Given the description of an element on the screen output the (x, y) to click on. 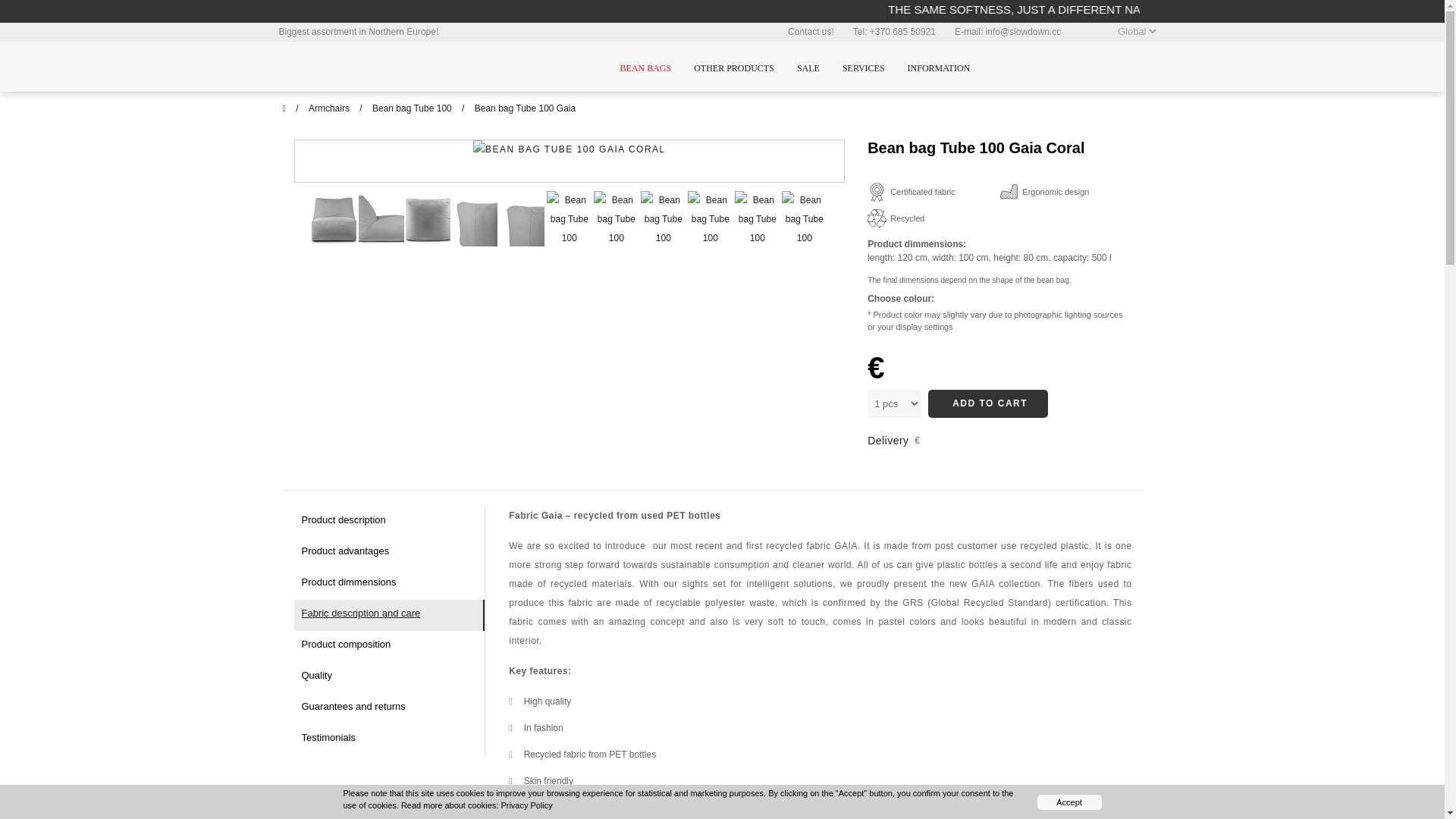
Biggest assortment in Northern Europe! (359, 31)
SALE (808, 68)
SERVICES (863, 68)
Biggest assortment in Northern Europe! (359, 31)
INFORMATION (938, 68)
slowdown.cc (381, 76)
BEAN BAGS (645, 68)
Other products (734, 68)
Bean Bags (645, 68)
OTHER PRODUCTS (760, 68)
